Given the description of an element on the screen output the (x, y) to click on. 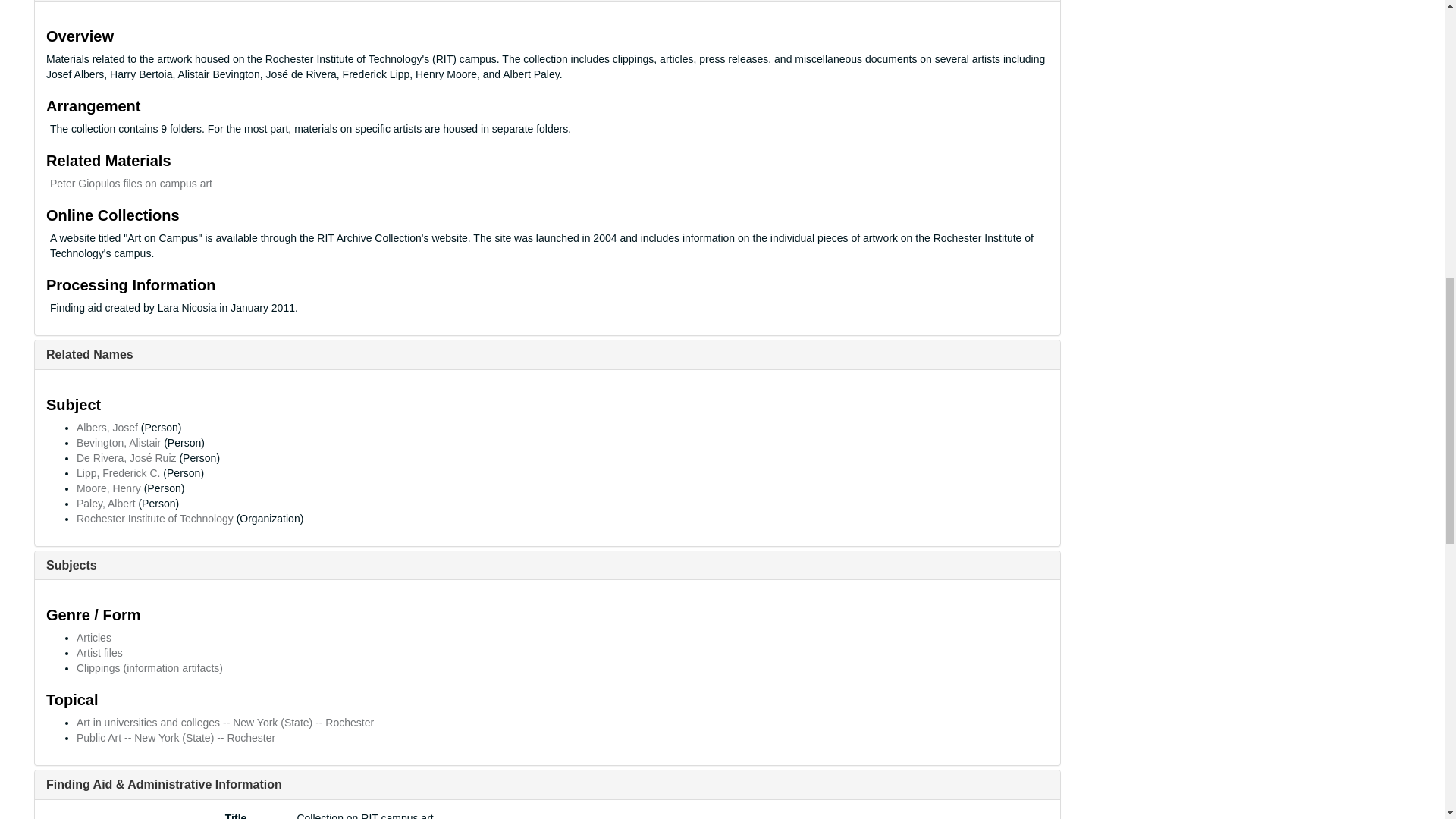
Artist files (99, 653)
Rochester Institute of Technology (154, 518)
Peter Giopulos files on campus art (130, 183)
Lipp, Frederick C. (118, 472)
Peter Giopulos files on campus art (130, 183)
Albers, Josef (107, 427)
Moore, Henry (109, 488)
Bevington, Alistair (118, 442)
Subjects (71, 564)
Related Names (89, 354)
Articles (94, 637)
Paley, Albert (106, 503)
